Given the description of an element on the screen output the (x, y) to click on. 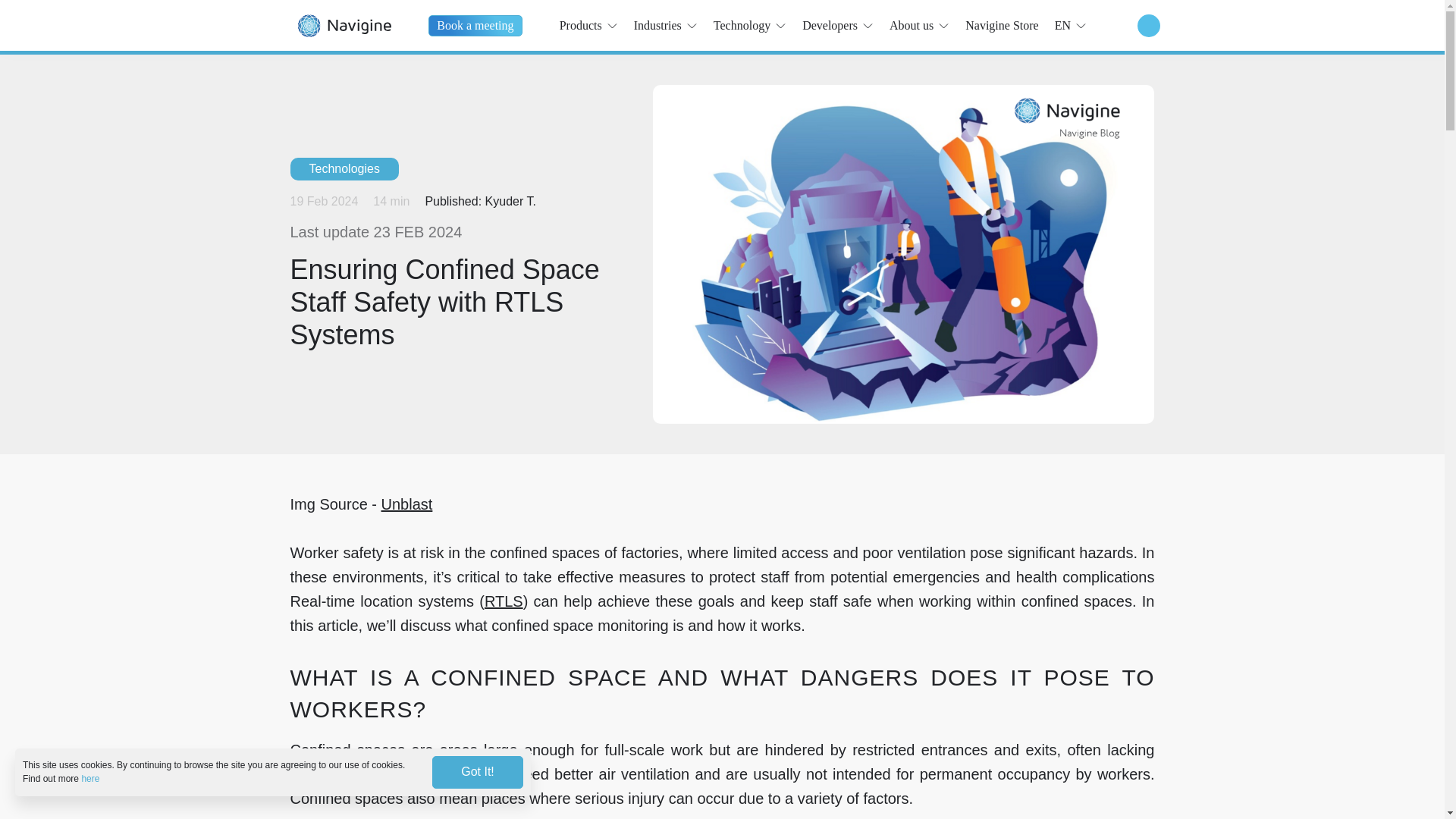
Real Time Location System (503, 600)
Kyuder T. (509, 201)
Navigine Official Site (343, 25)
